Given the description of an element on the screen output the (x, y) to click on. 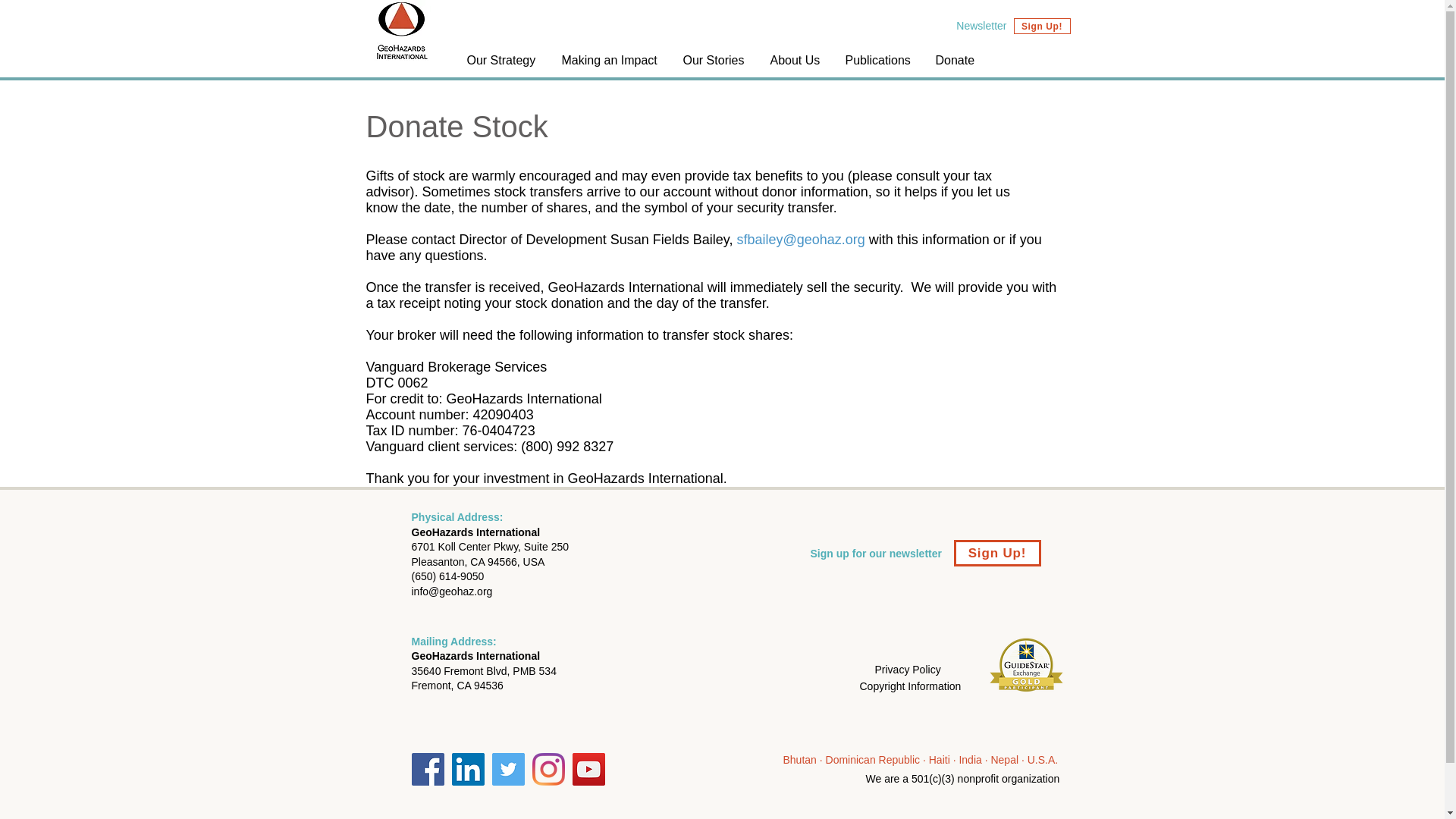
goldstar.gif (1026, 664)
Sign Up! (1041, 26)
Publications (877, 59)
